Given the description of an element on the screen output the (x, y) to click on. 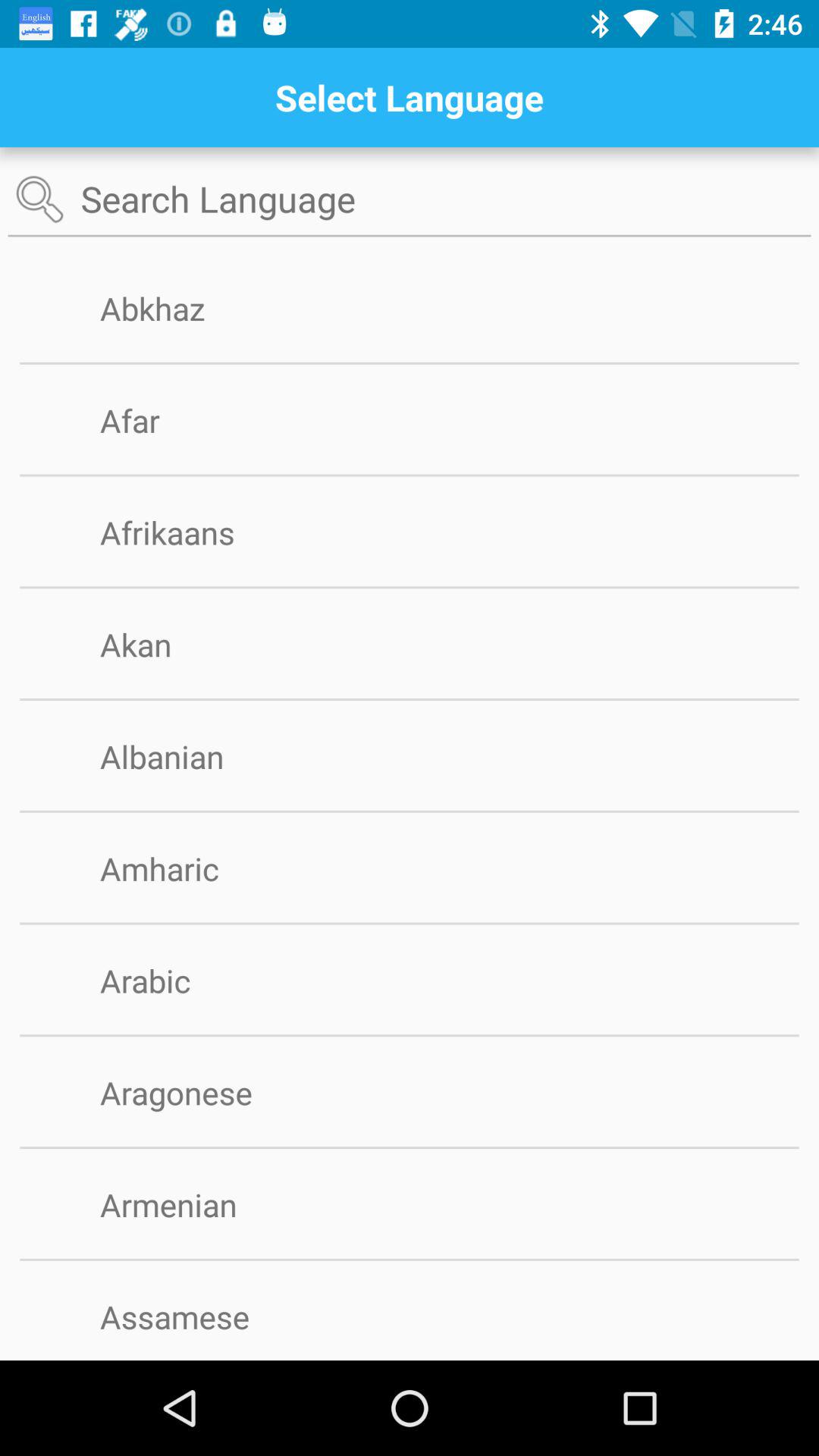
turn off the app below armenian item (409, 1259)
